Given the description of an element on the screen output the (x, y) to click on. 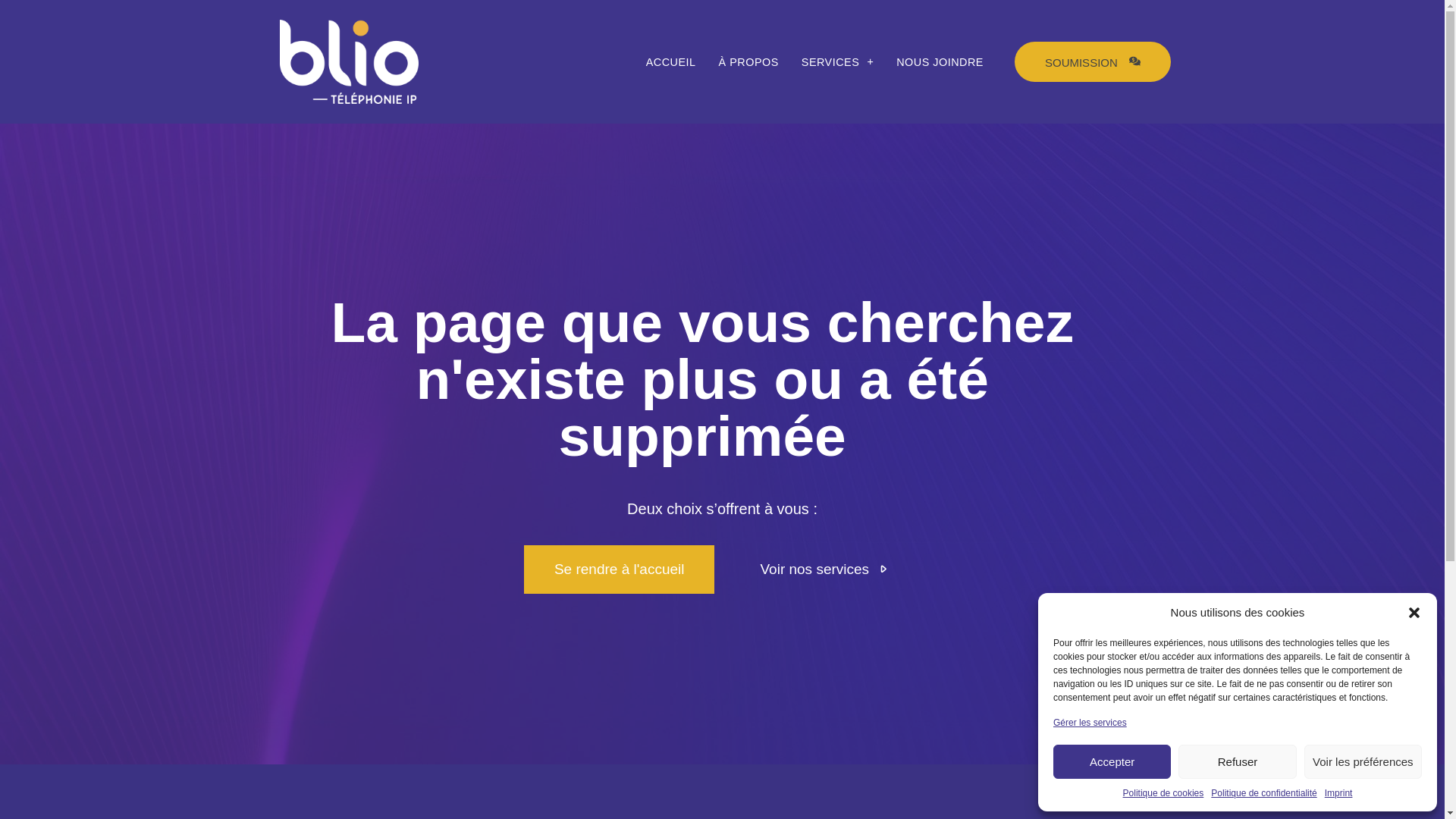
NOUS JOINDRE Element type: text (939, 61)
Voir nos services Element type: text (824, 569)
Politique de cookies Element type: text (1163, 793)
SERVICES Element type: text (837, 61)
Imprint Element type: text (1338, 793)
SOUMISSION Element type: text (1092, 61)
Accepter Element type: text (1111, 761)
Refuser Element type: text (1236, 761)
ACCUEIL Element type: text (670, 61)
